Given the description of an element on the screen output the (x, y) to click on. 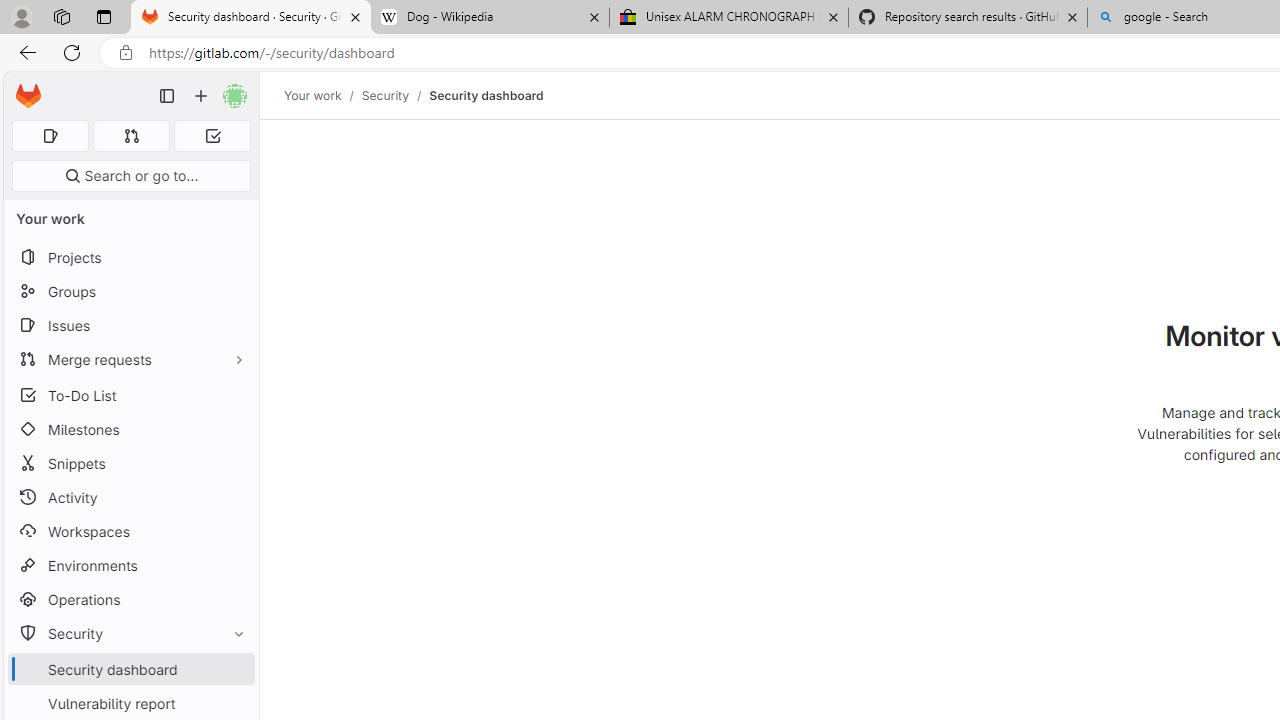
Security (130, 633)
Activity (130, 497)
Environments (130, 564)
Projects (130, 257)
Primary navigation sidebar (167, 96)
Issues (130, 325)
To-Do List (130, 394)
Security dashboard (486, 95)
Operations (130, 599)
Merge requests (130, 358)
To-Do list 0 (212, 136)
